Given the description of an element on the screen output the (x, y) to click on. 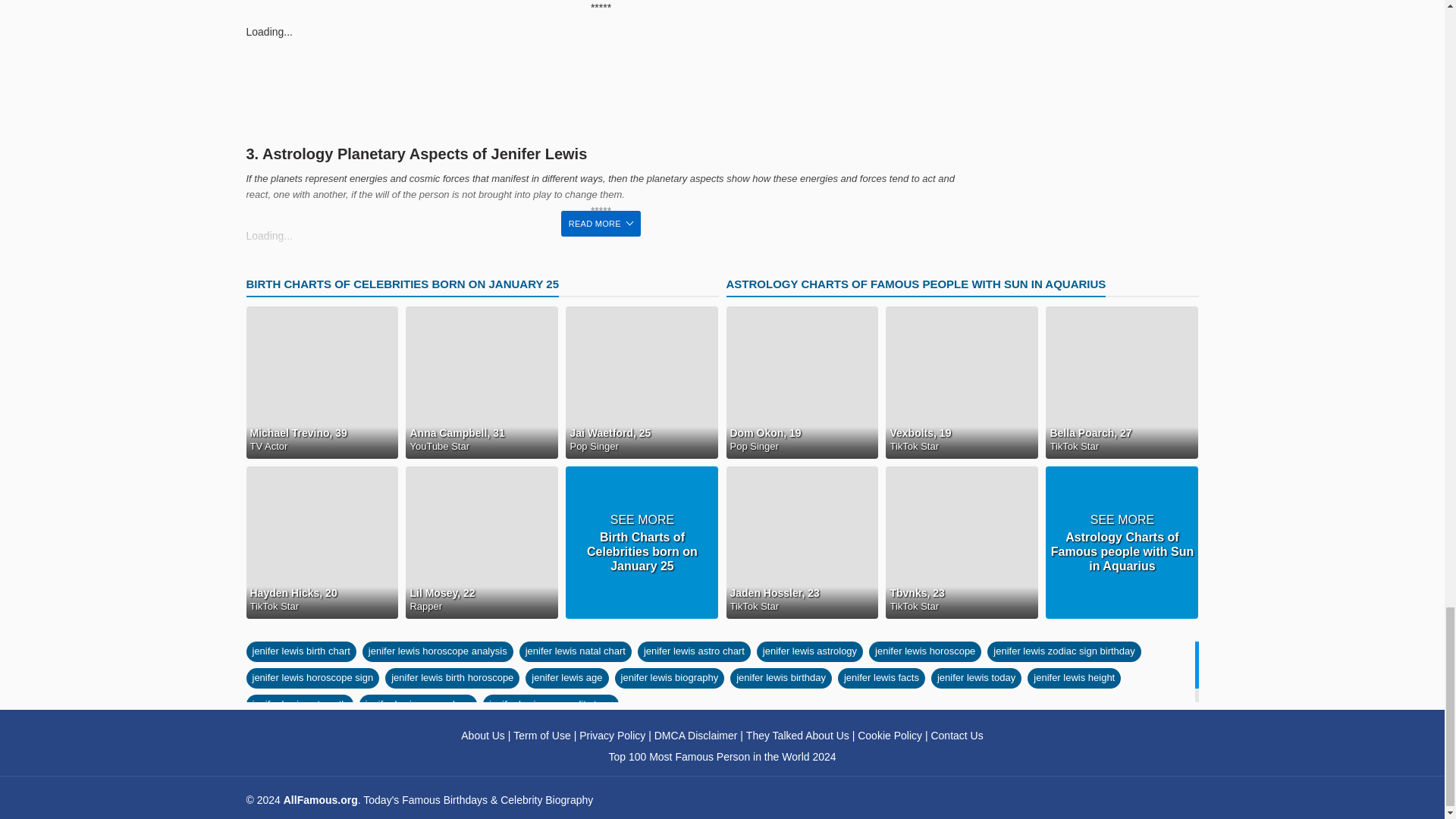
Advertisement (600, 89)
